Given the description of an element on the screen output the (x, y) to click on. 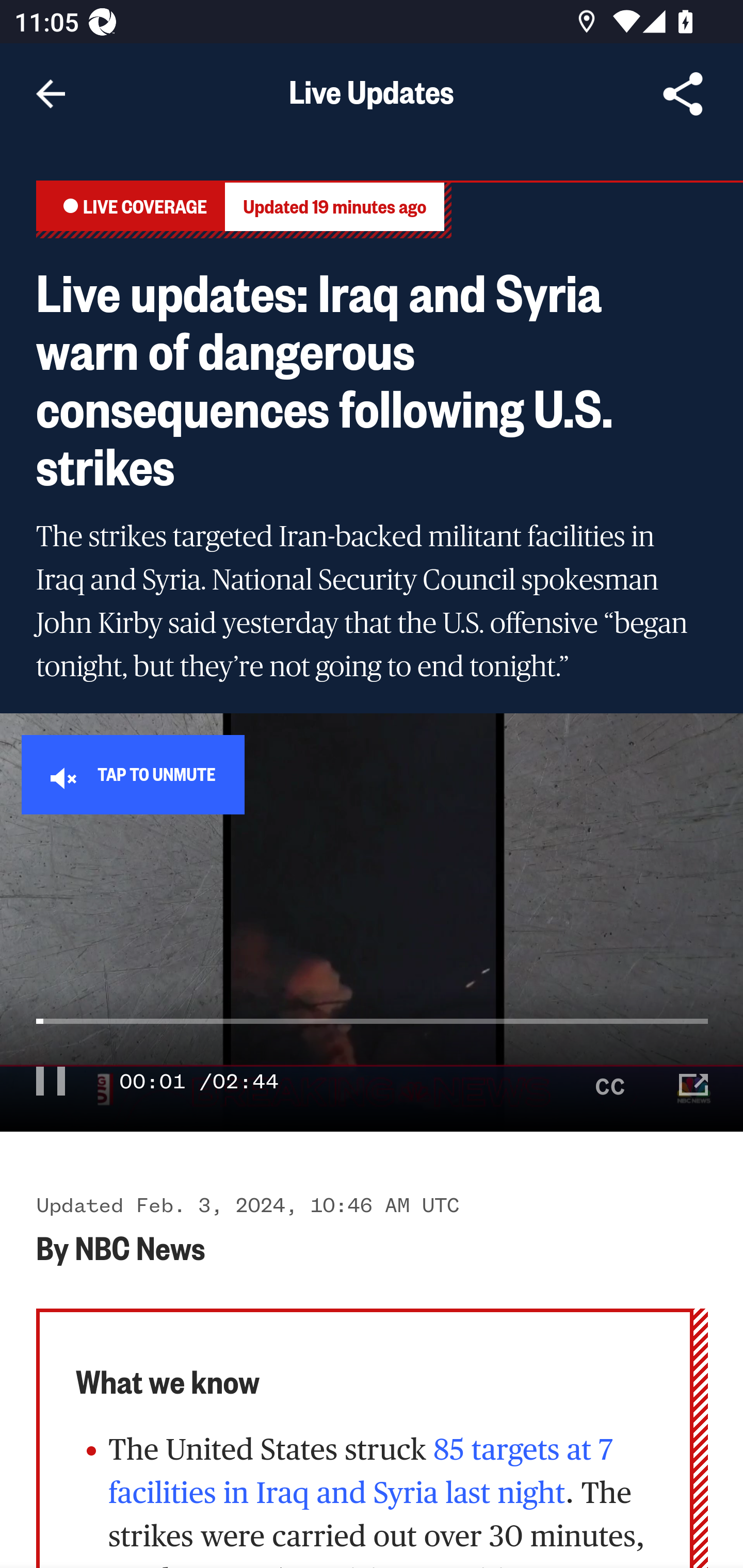
Navigate up (50, 93)
Share Article, button (683, 94)
 TAP TO UNMUTE (133, 773)
indeterminate (372, 1039)
 (50, 1080)
 (610, 1080)
 (694, 1080)
